Given the description of an element on the screen output the (x, y) to click on. 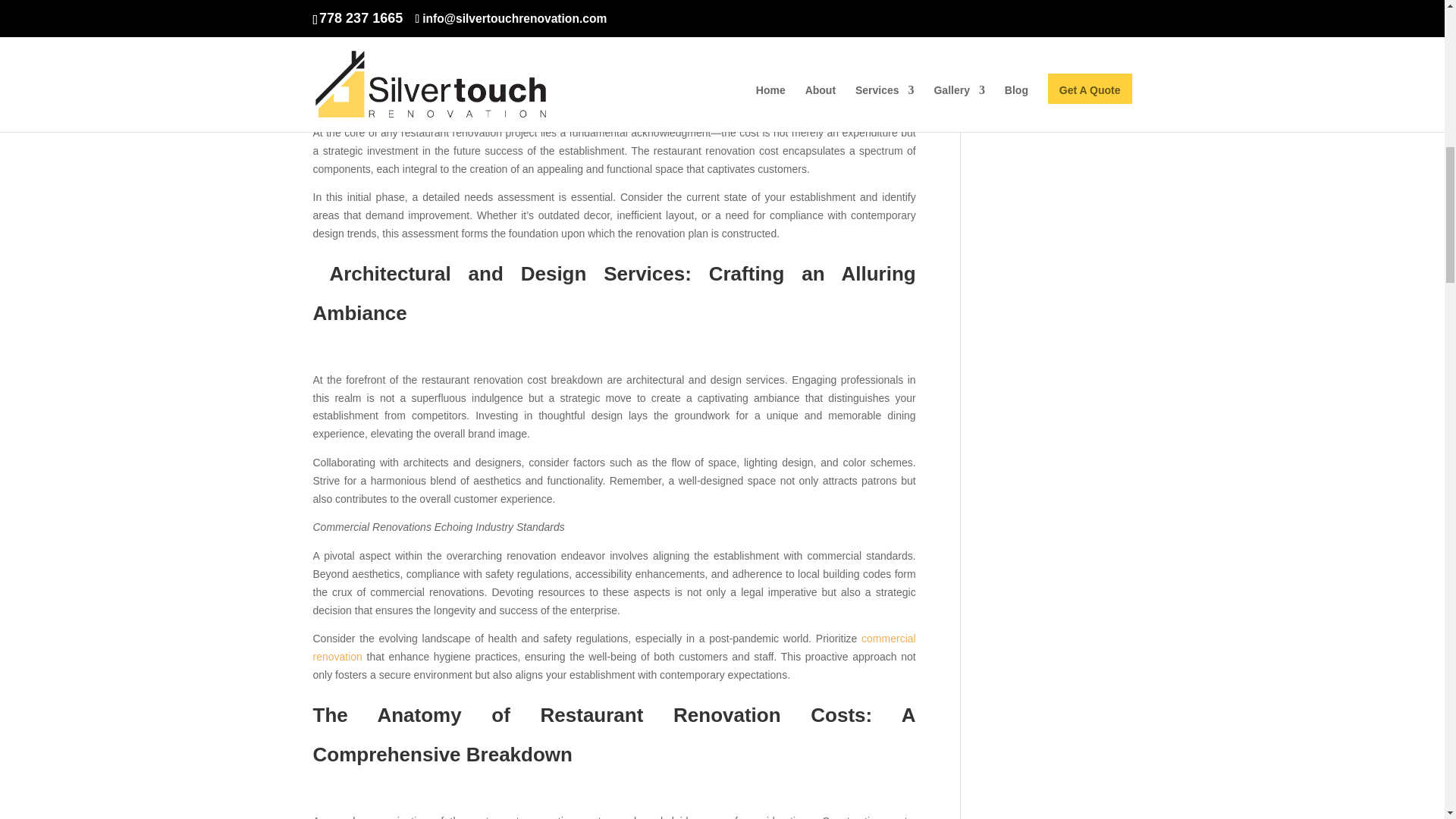
commercial renovation (614, 647)
